Given the description of an element on the screen output the (x, y) to click on. 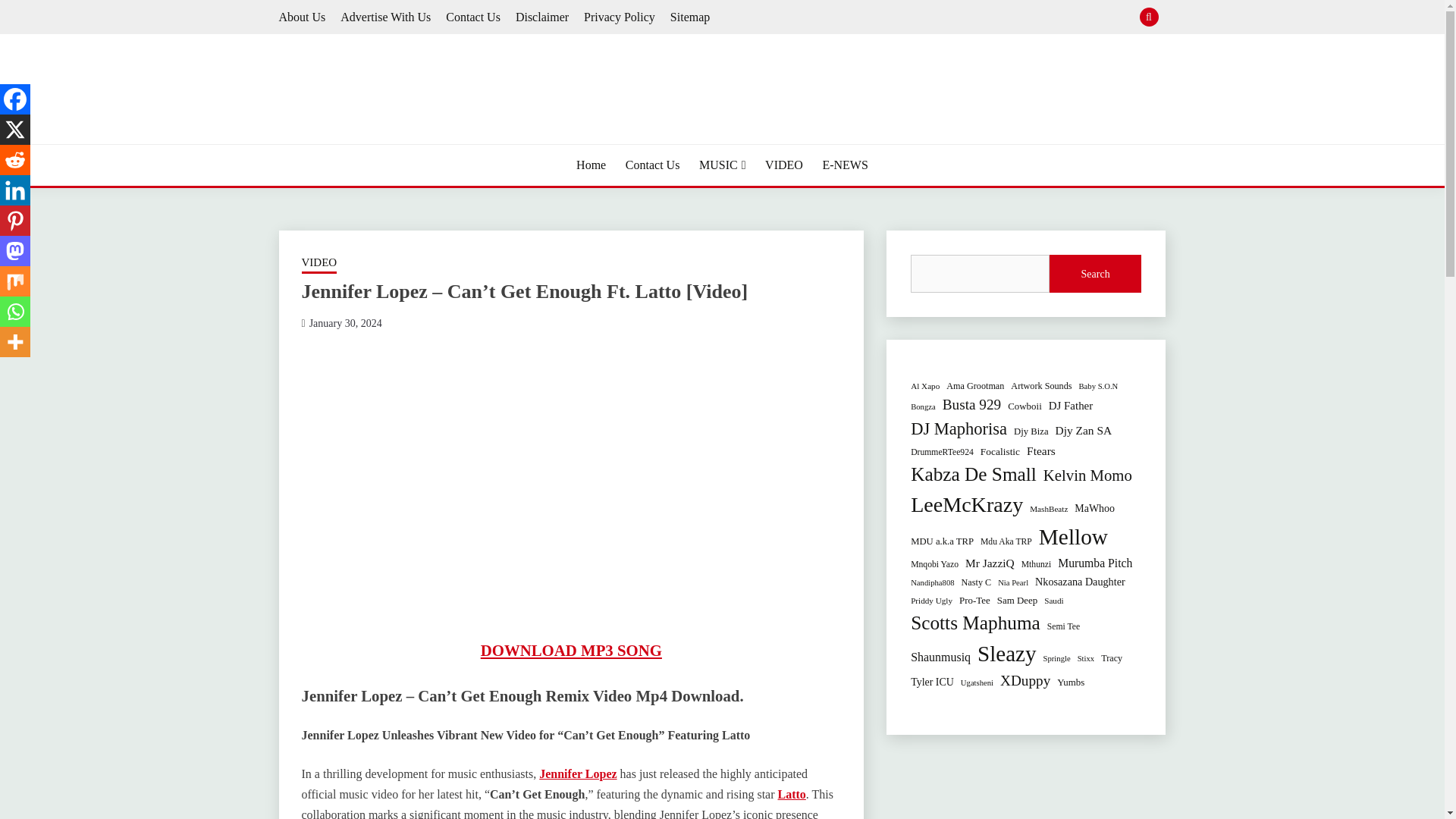
Contact Us (472, 16)
Advertise With Us (385, 16)
OKAYTUNE (355, 142)
Disclaimer (542, 16)
Sitemap (689, 16)
Search (832, 18)
MUSIC (721, 165)
VIDEO (319, 263)
Latto (791, 793)
DOWNLOAD MP3 SONG (571, 650)
